Given the description of an element on the screen output the (x, y) to click on. 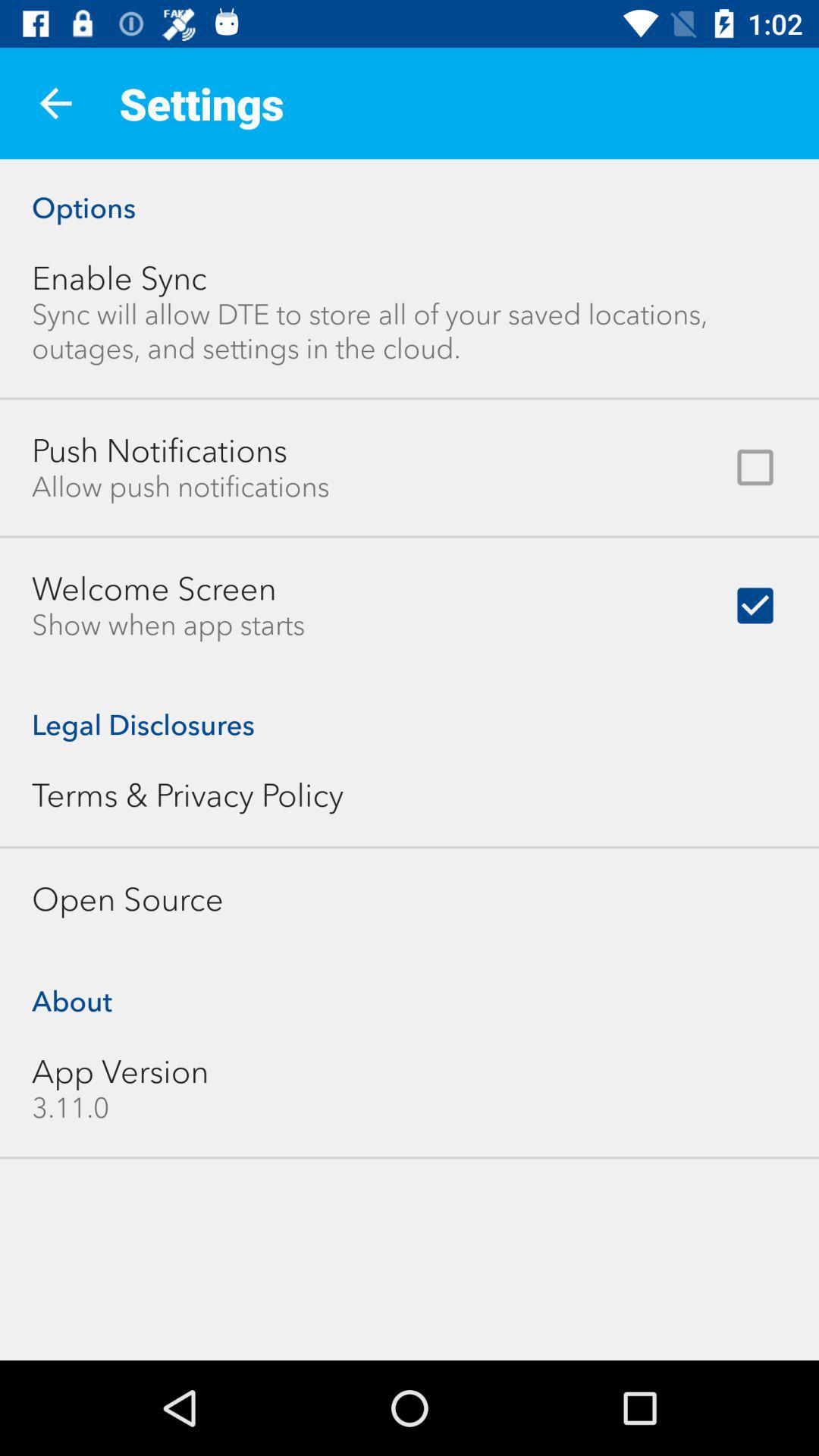
launch legal disclosures at the center (409, 709)
